Given the description of an element on the screen output the (x, y) to click on. 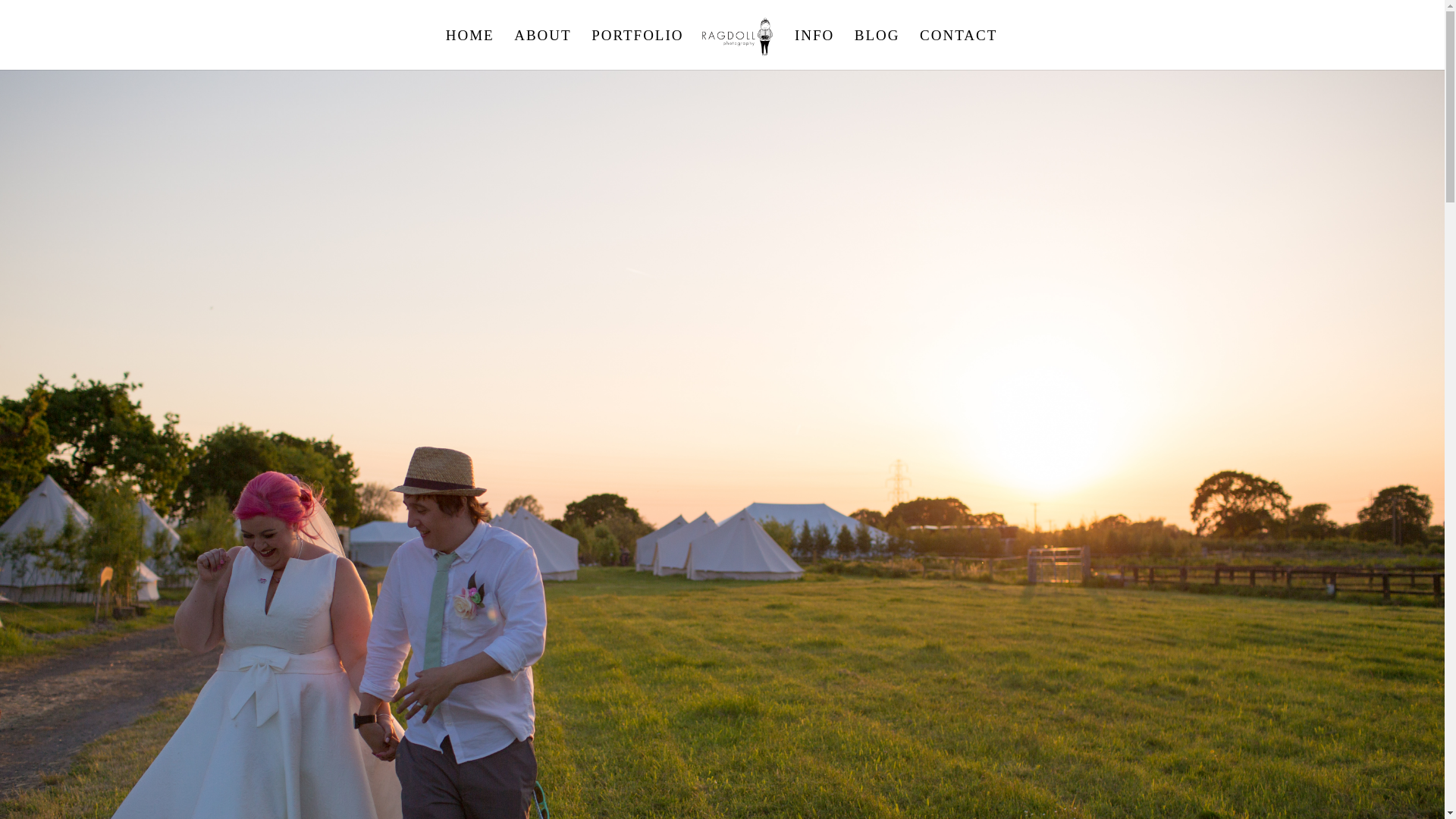
BLOG (876, 49)
INFO (814, 49)
PORTFOLIO (636, 49)
CONTACT (958, 49)
ABOUT (541, 49)
HOME (470, 49)
